Given the description of an element on the screen output the (x, y) to click on. 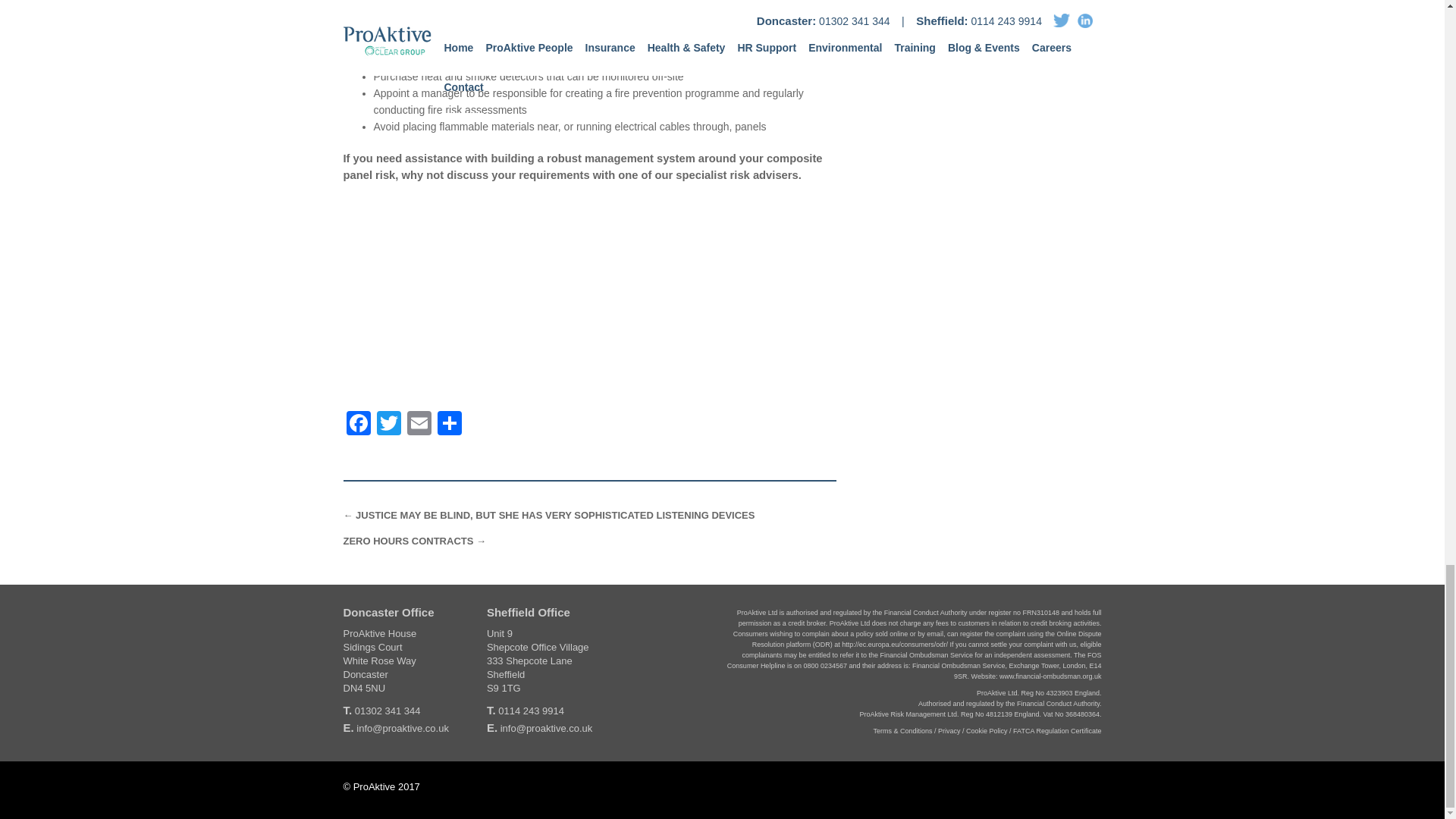
Twitter (387, 424)
Email (418, 424)
Facebook (357, 424)
